Given the description of an element on the screen output the (x, y) to click on. 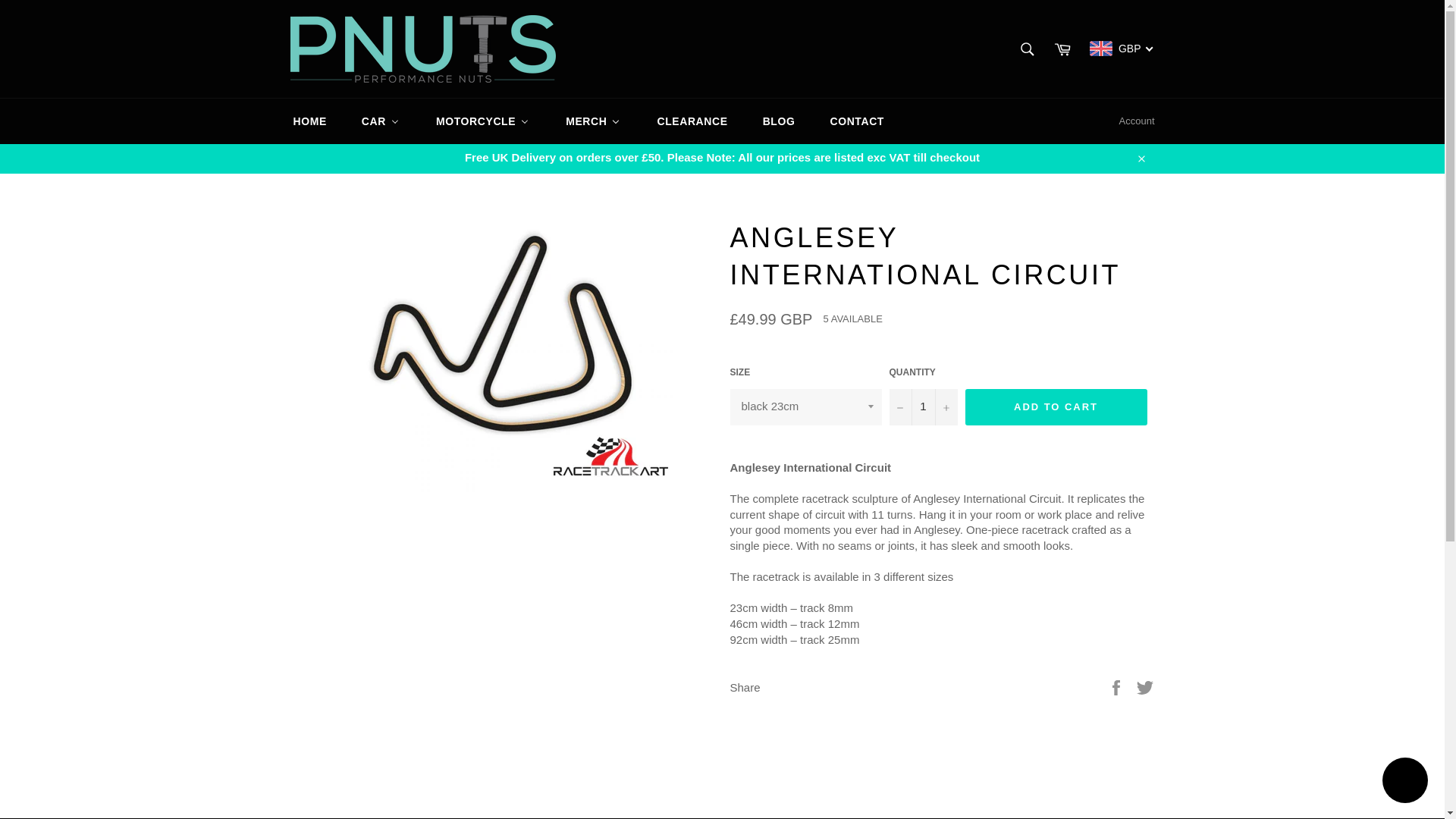
Tweet on Twitter (1144, 686)
Share on Facebook (1117, 686)
Shopify online store chat (1404, 781)
1 (922, 407)
